Given the description of an element on the screen output the (x, y) to click on. 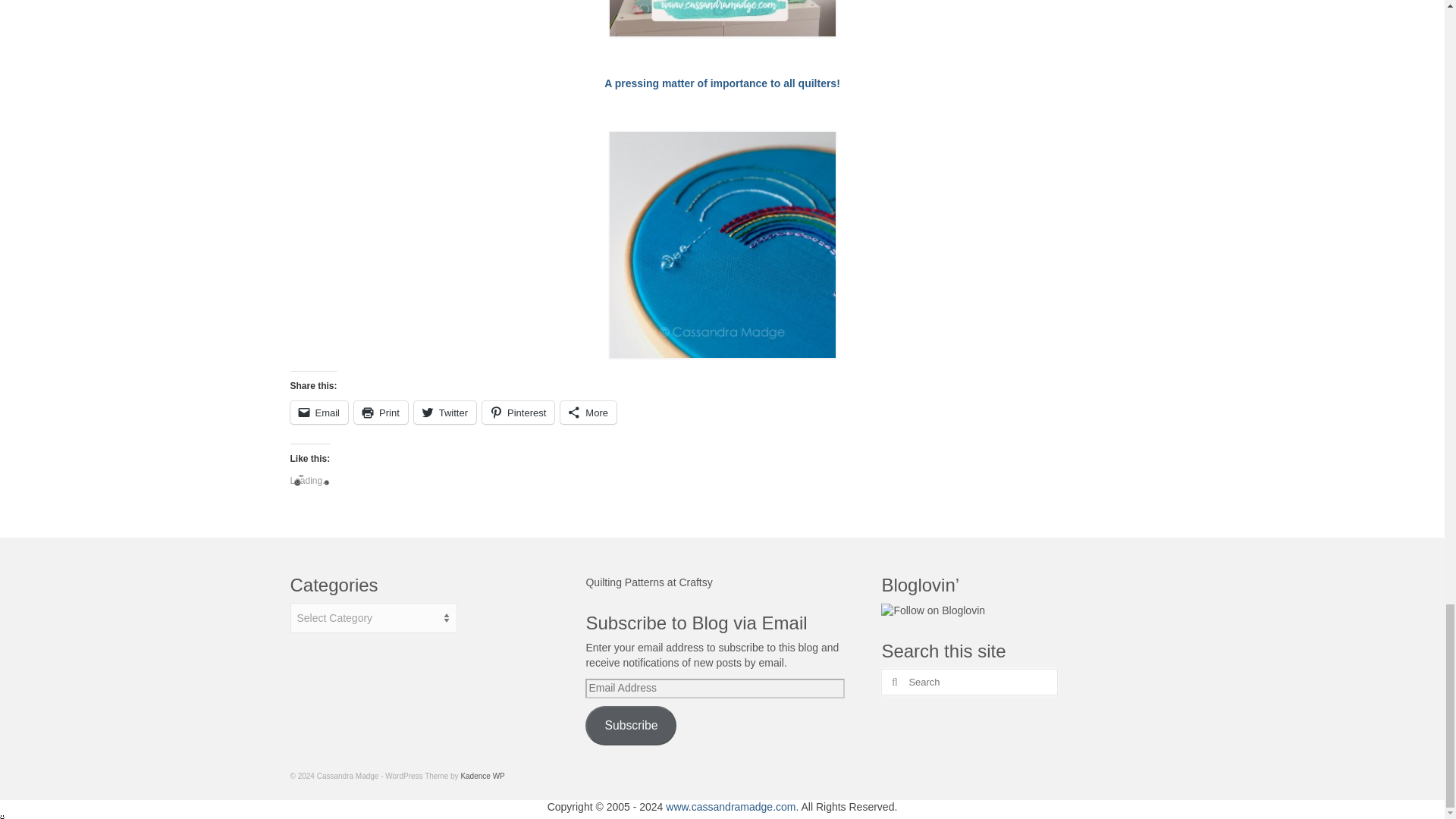
Click to share on Twitter (444, 412)
Click to print (380, 412)
Follow Cassandra Madge on Bloglovin (932, 609)
Click to email a link to a friend (318, 412)
Click to share on Pinterest (517, 412)
